Given the description of an element on the screen output the (x, y) to click on. 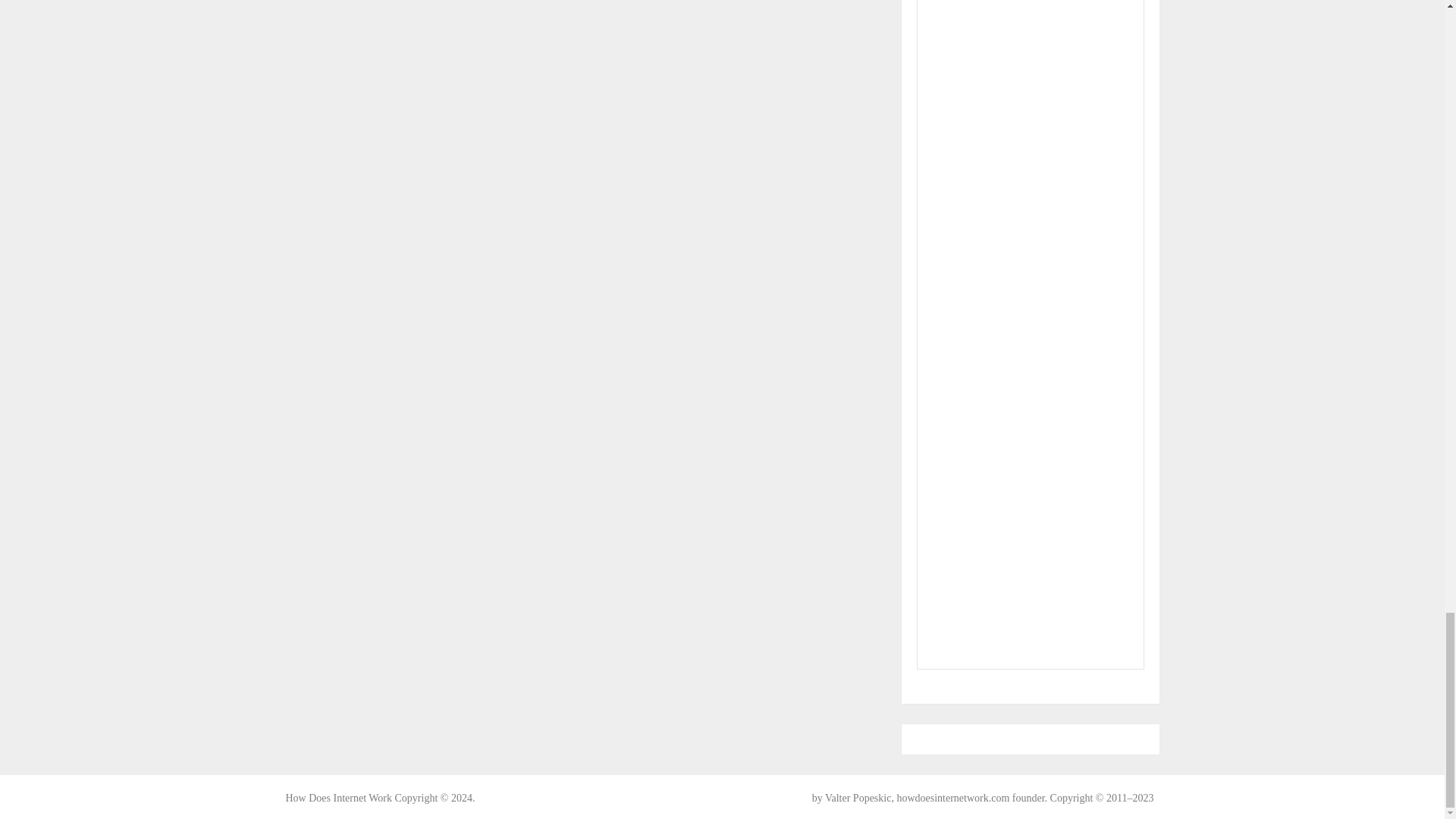
 About Networking (338, 797)
